Given the description of an element on the screen output the (x, y) to click on. 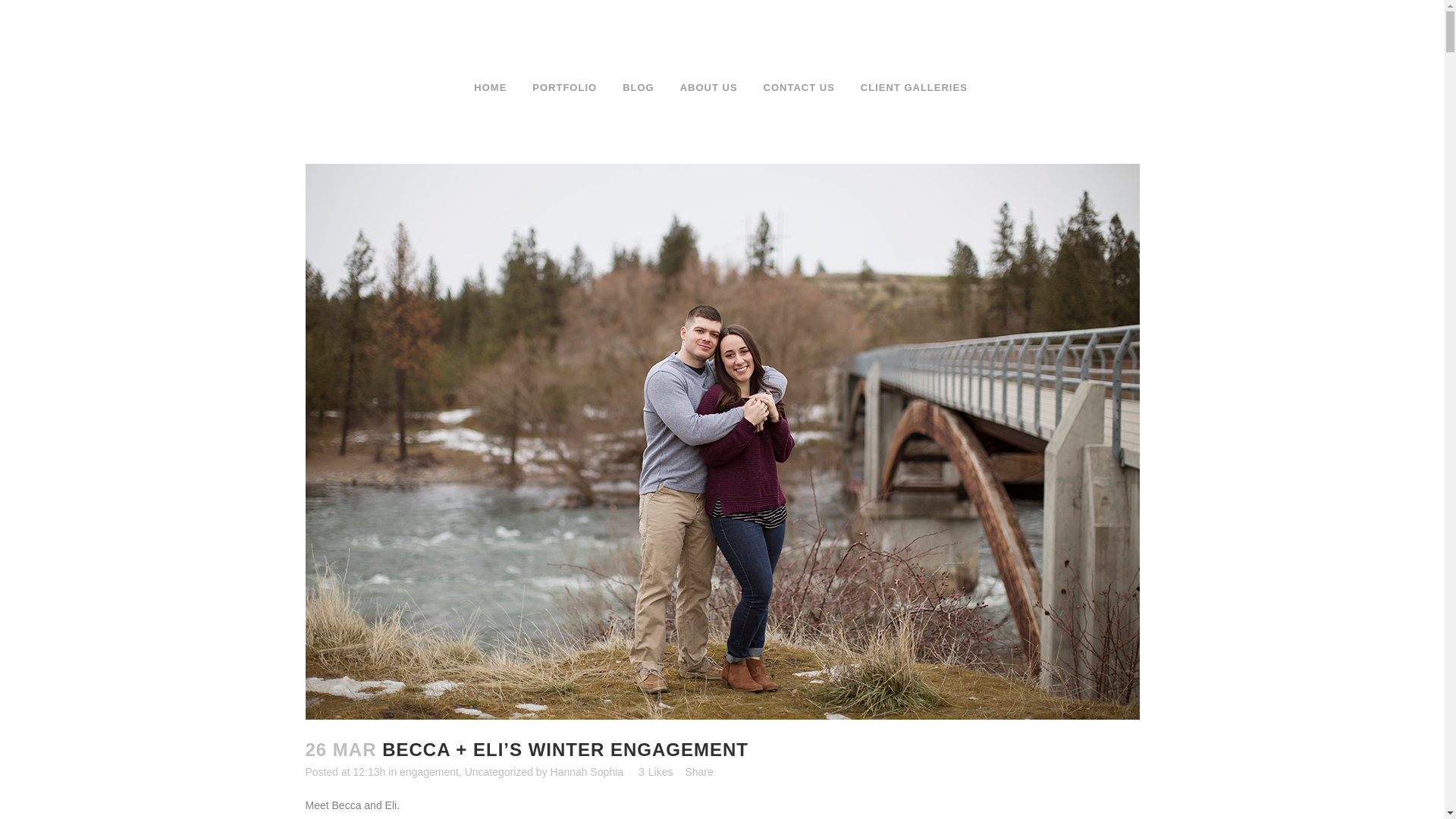
Uncategorized (498, 771)
3 Likes (655, 771)
Like this (655, 771)
Hannah Sophia (587, 771)
engagement (428, 771)
Share (698, 771)
